Given the description of an element on the screen output the (x, y) to click on. 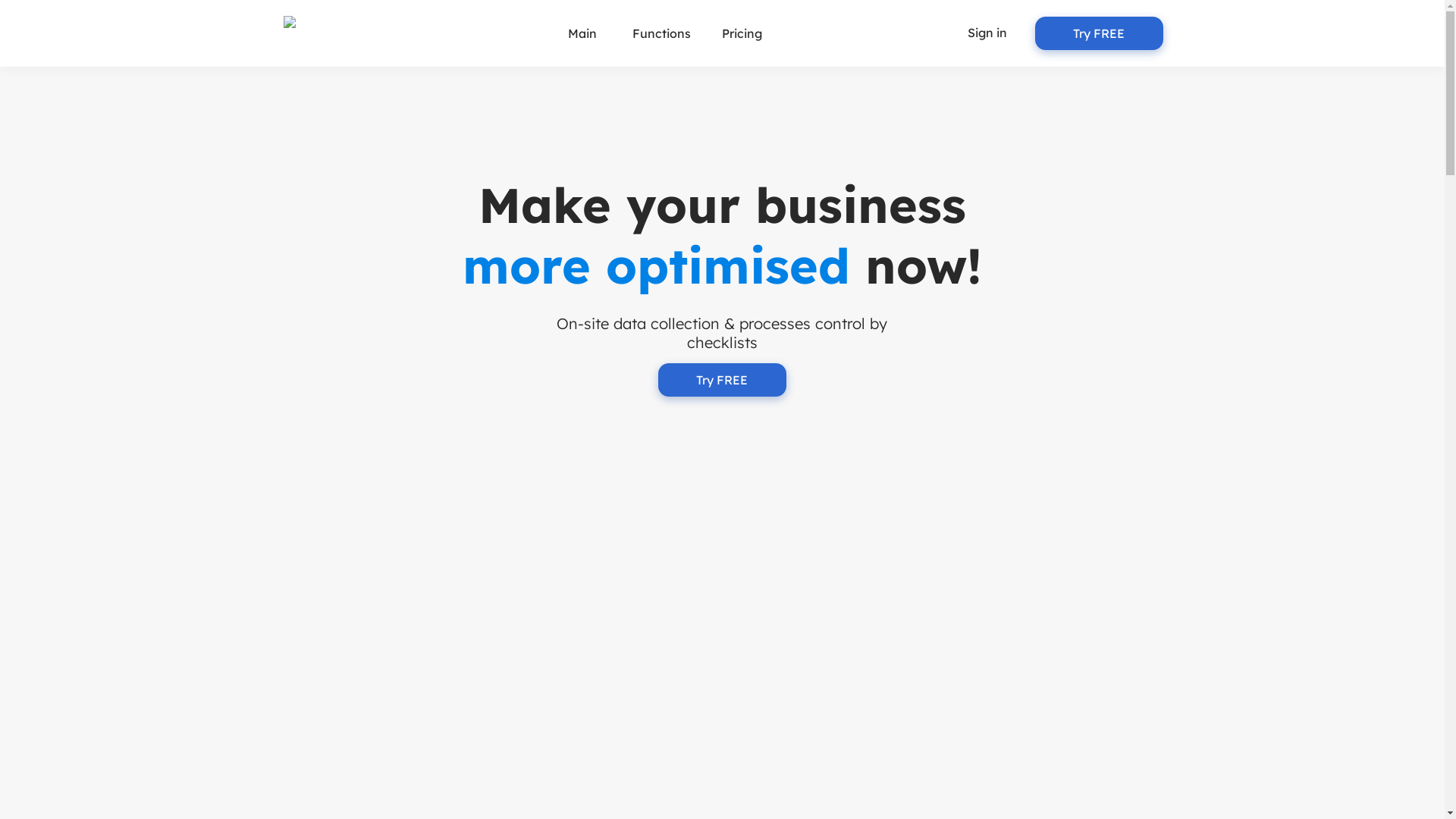
Sign in Element type: text (987, 32)
Try FREE Element type: text (722, 379)
Try FREE Element type: text (1098, 33)
Functions Element type: text (661, 32)
Pricing Element type: text (741, 32)
Main Element type: text (581, 32)
